Given the description of an element on the screen output the (x, y) to click on. 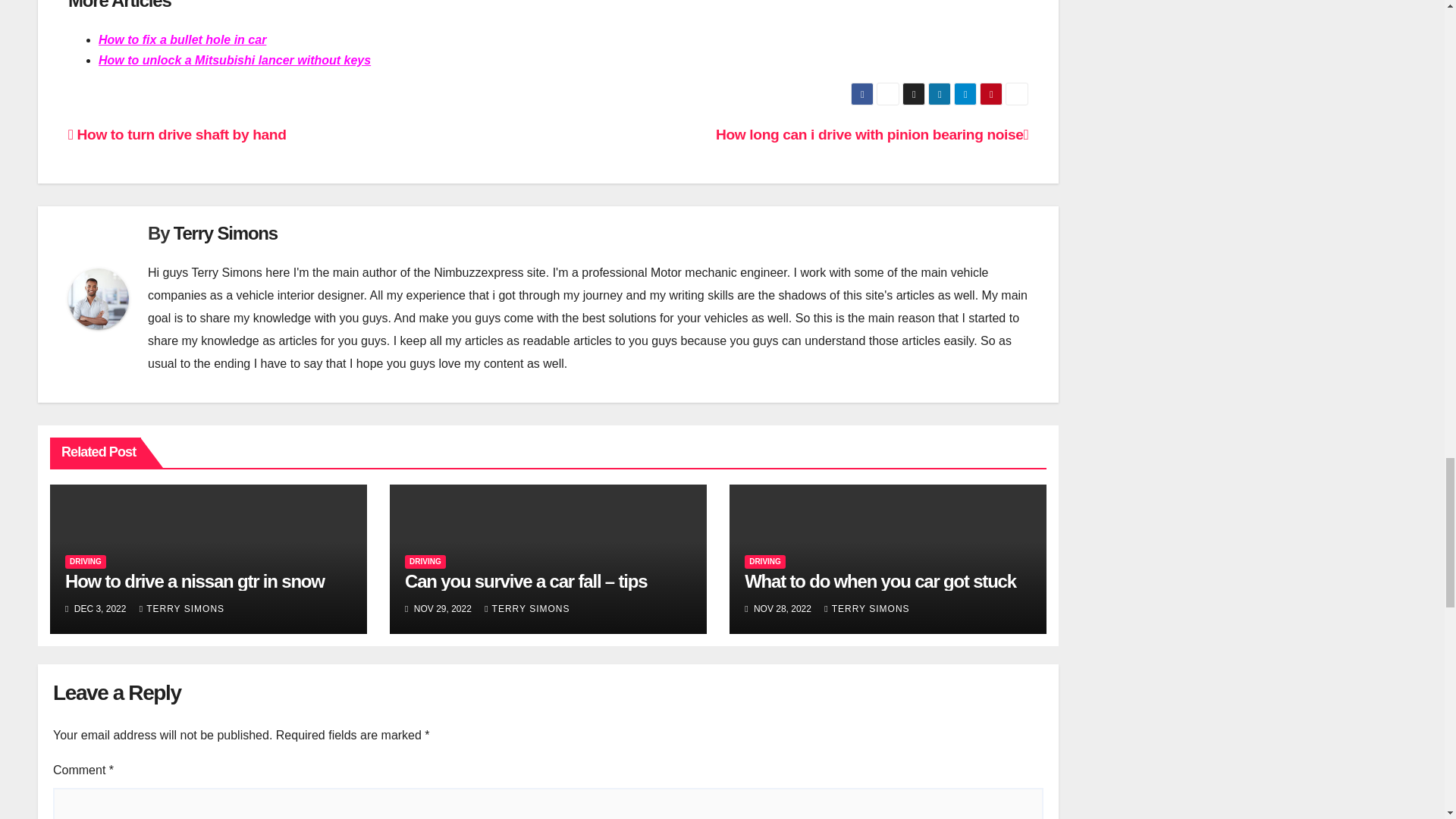
How to turn drive shaft by hand (177, 134)
How long can i drive with pinion bearing noise (871, 134)
How to unlock a Mitsubishi lancer without keys (235, 60)
How to fix a bullet hole in car (182, 39)
Permalink to: How to drive a nissan gtr in snow (194, 580)
